Given the description of an element on the screen output the (x, y) to click on. 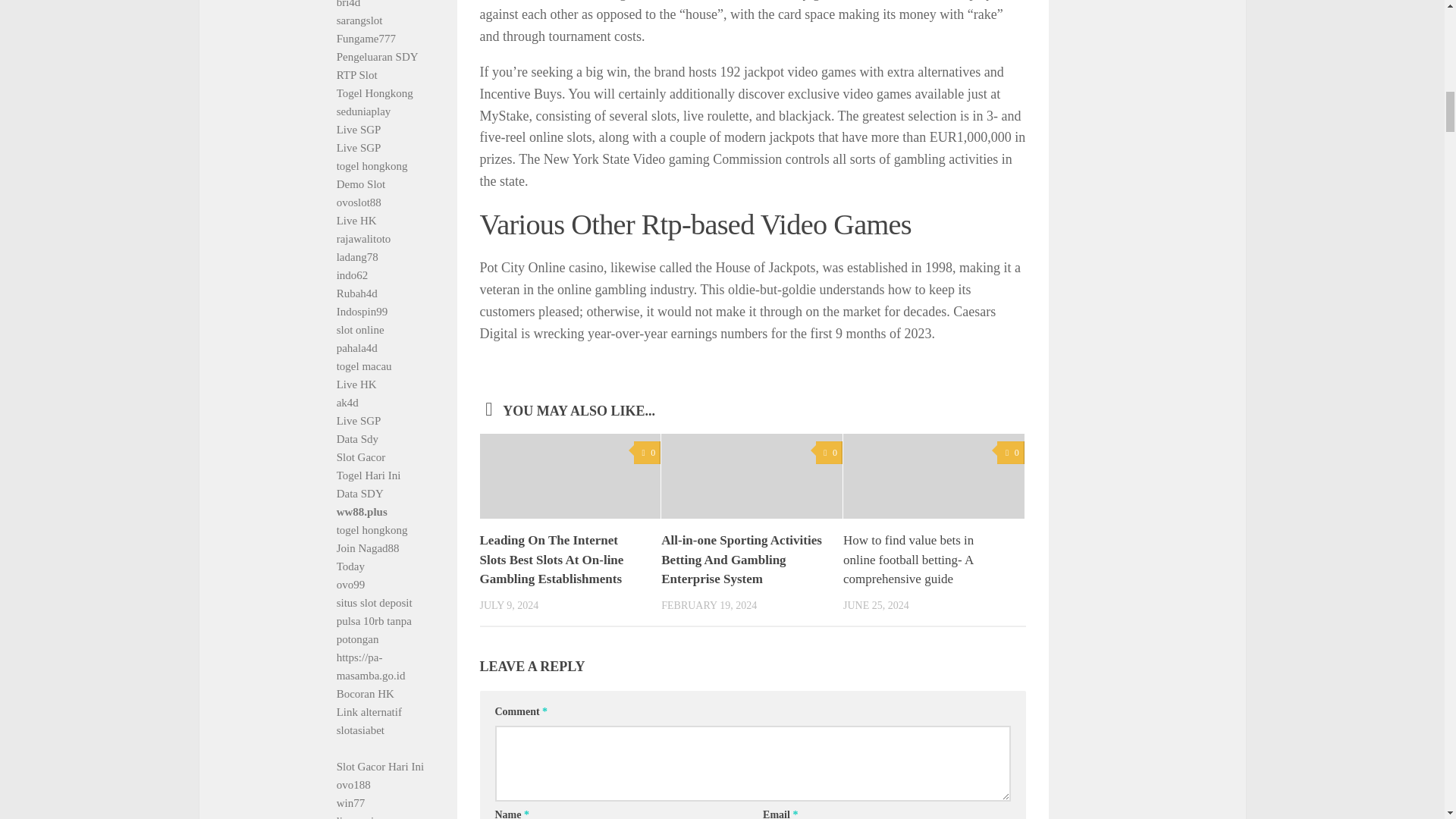
0 (1010, 453)
0 (647, 453)
louhan slot (935, 0)
0 (829, 453)
